Given the description of an element on the screen output the (x, y) to click on. 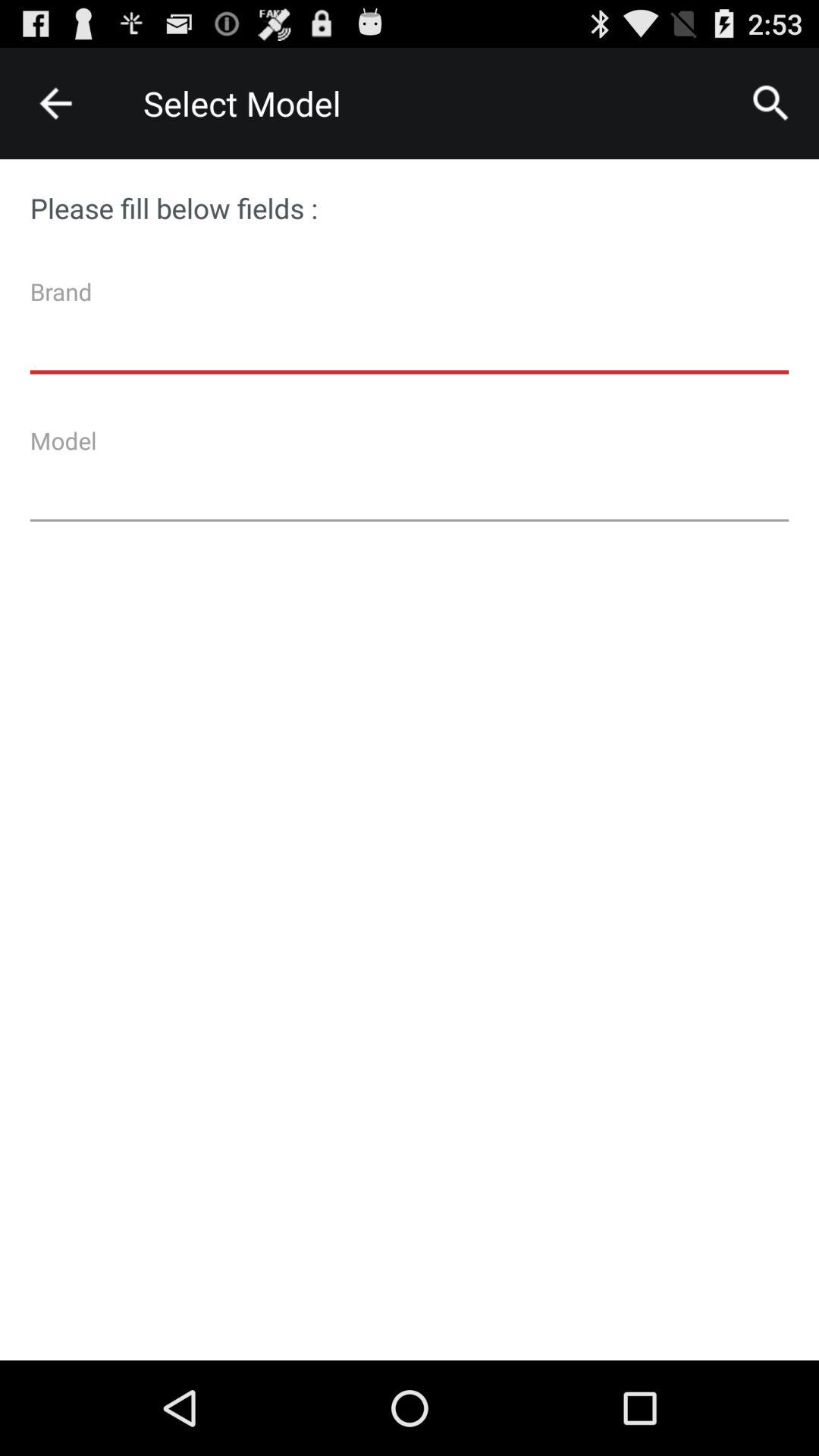
select icon at the top right corner (771, 103)
